Given the description of an element on the screen output the (x, y) to click on. 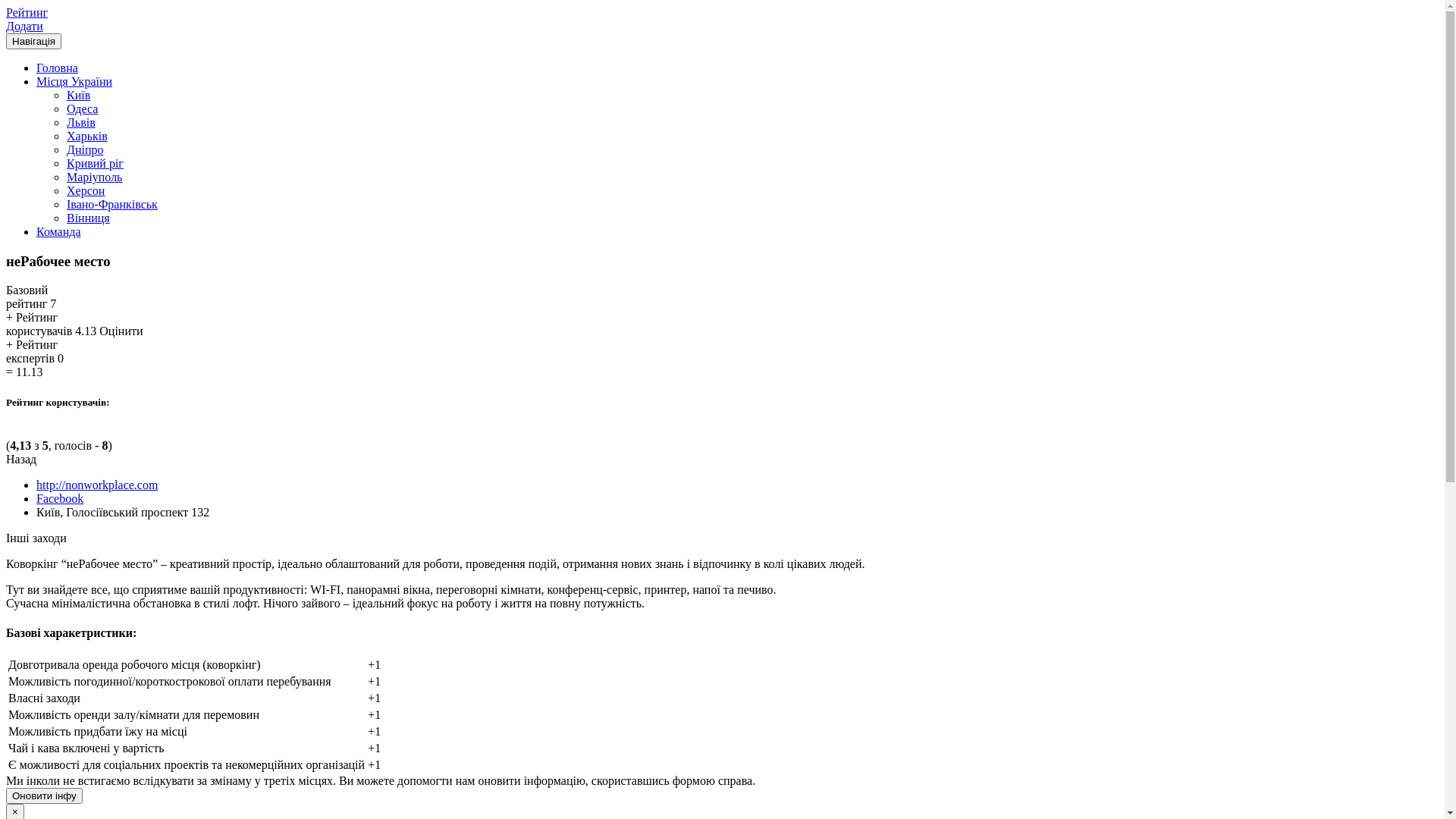
http://nonworkplace.com Element type: text (96, 484)
Facebook Element type: text (59, 498)
